Given the description of an element on the screen output the (x, y) to click on. 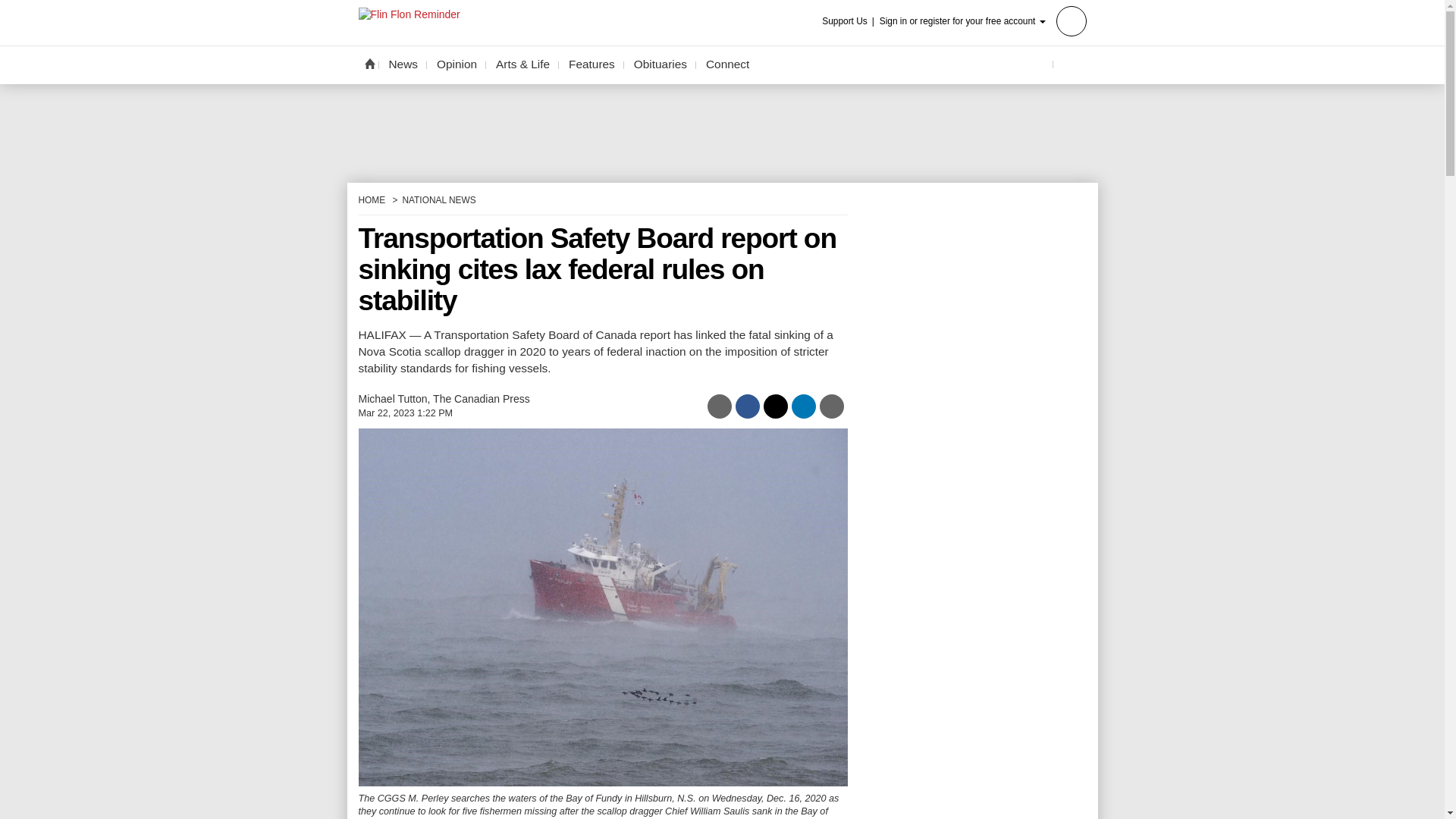
Home (368, 63)
News (403, 64)
Support Us (849, 21)
Sign in or register for your free account (982, 20)
Opinion (456, 64)
